Given the description of an element on the screen output the (x, y) to click on. 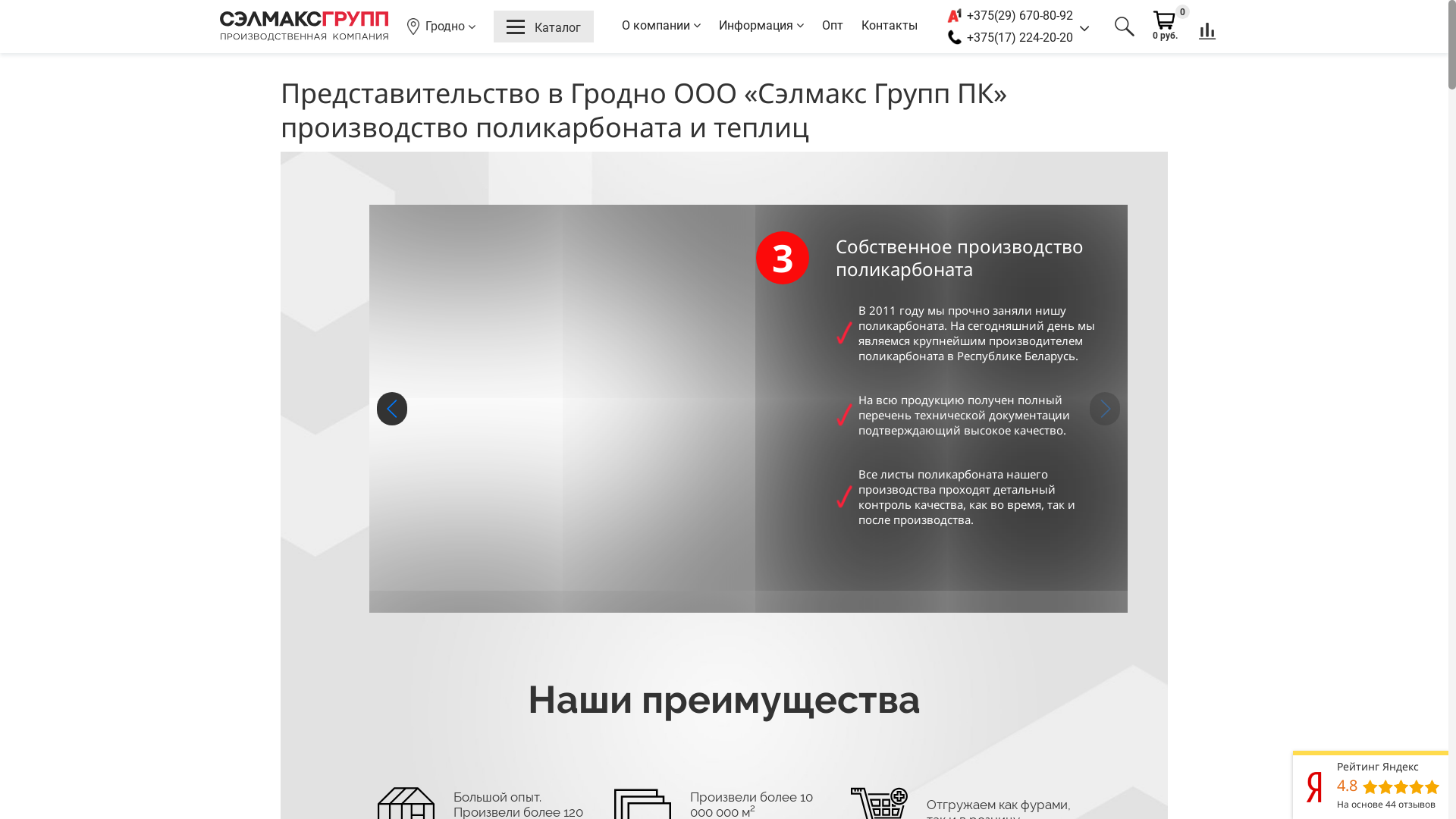
+375(17) 224-20-20 Element type: text (1019, 37)
+375(29) 670-80-92 Element type: text (1019, 15)
